Given the description of an element on the screen output the (x, y) to click on. 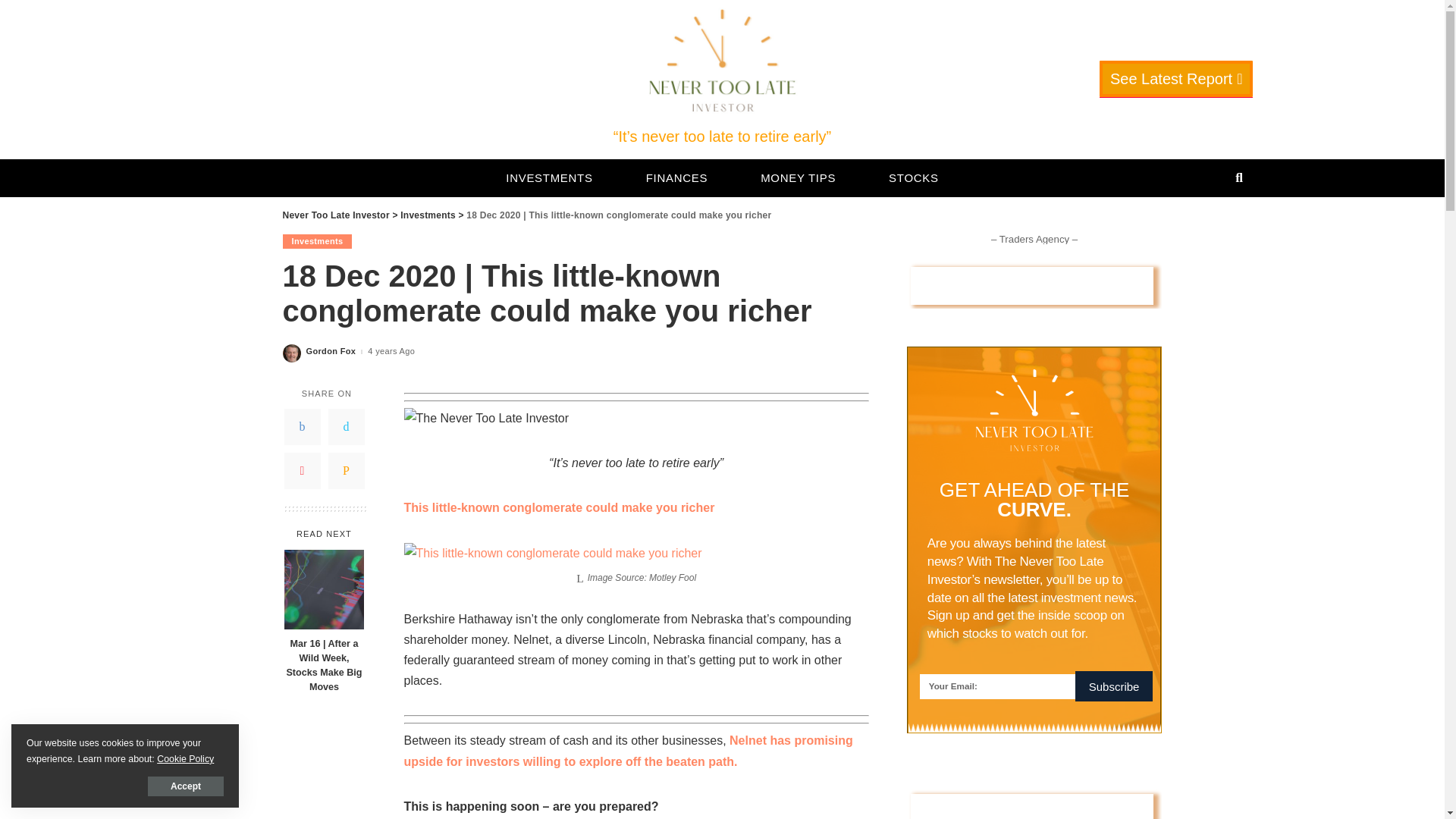
INVESTMENTS (548, 177)
MONEY TIPS (798, 177)
2020-12-18T15:47:29-05:00 (391, 351)
Facebook (301, 426)
FINANCES (676, 177)
Go to the Investments Category archives. (427, 214)
Email (345, 470)
Investments (427, 214)
Pinterest (301, 470)
Go to Never Too Late Investor. (335, 214)
